Given the description of an element on the screen output the (x, y) to click on. 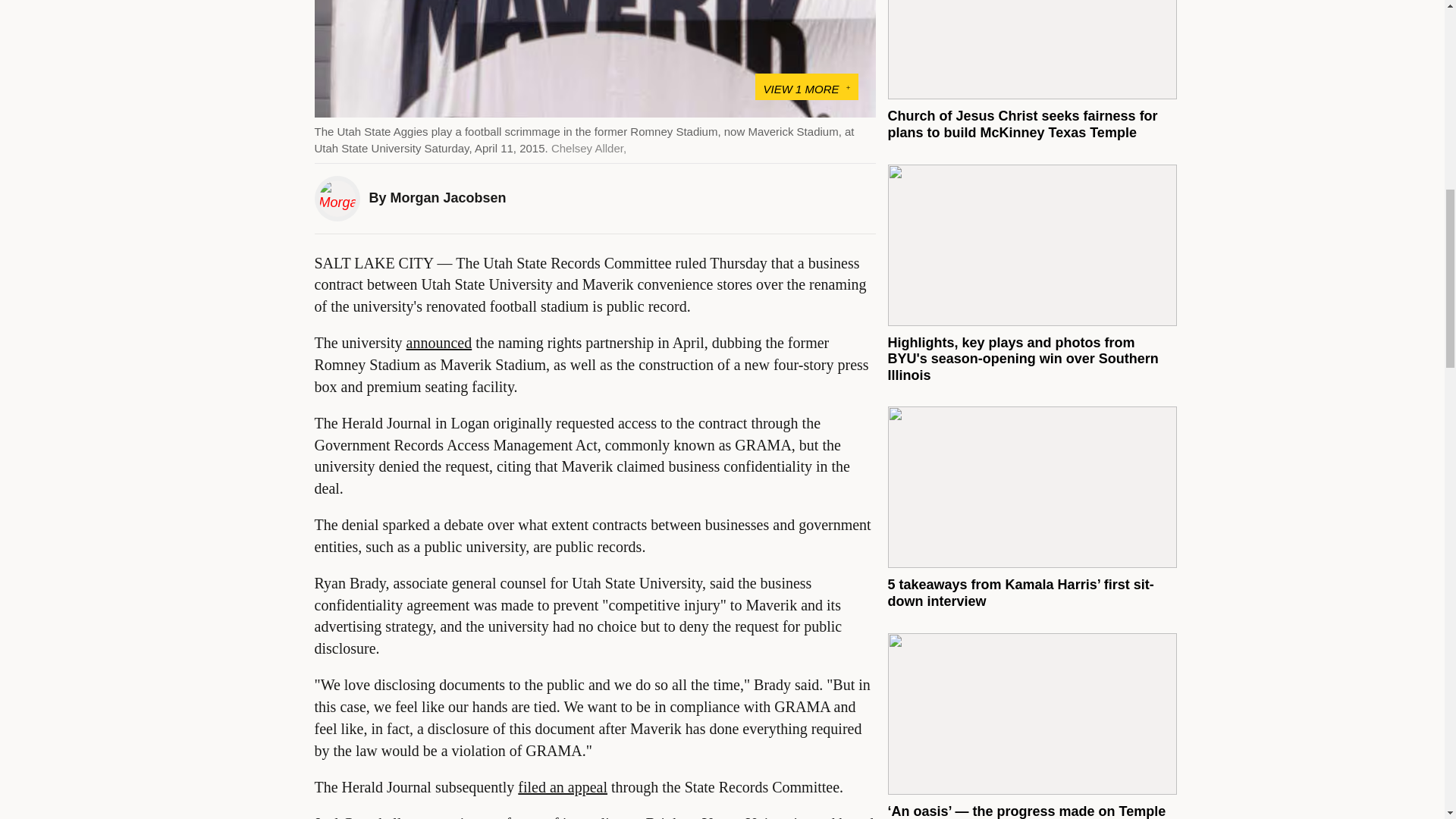
announced (438, 342)
Morgan Jacobsen (448, 197)
filed an appeal (562, 786)
